Given the description of an element on the screen output the (x, y) to click on. 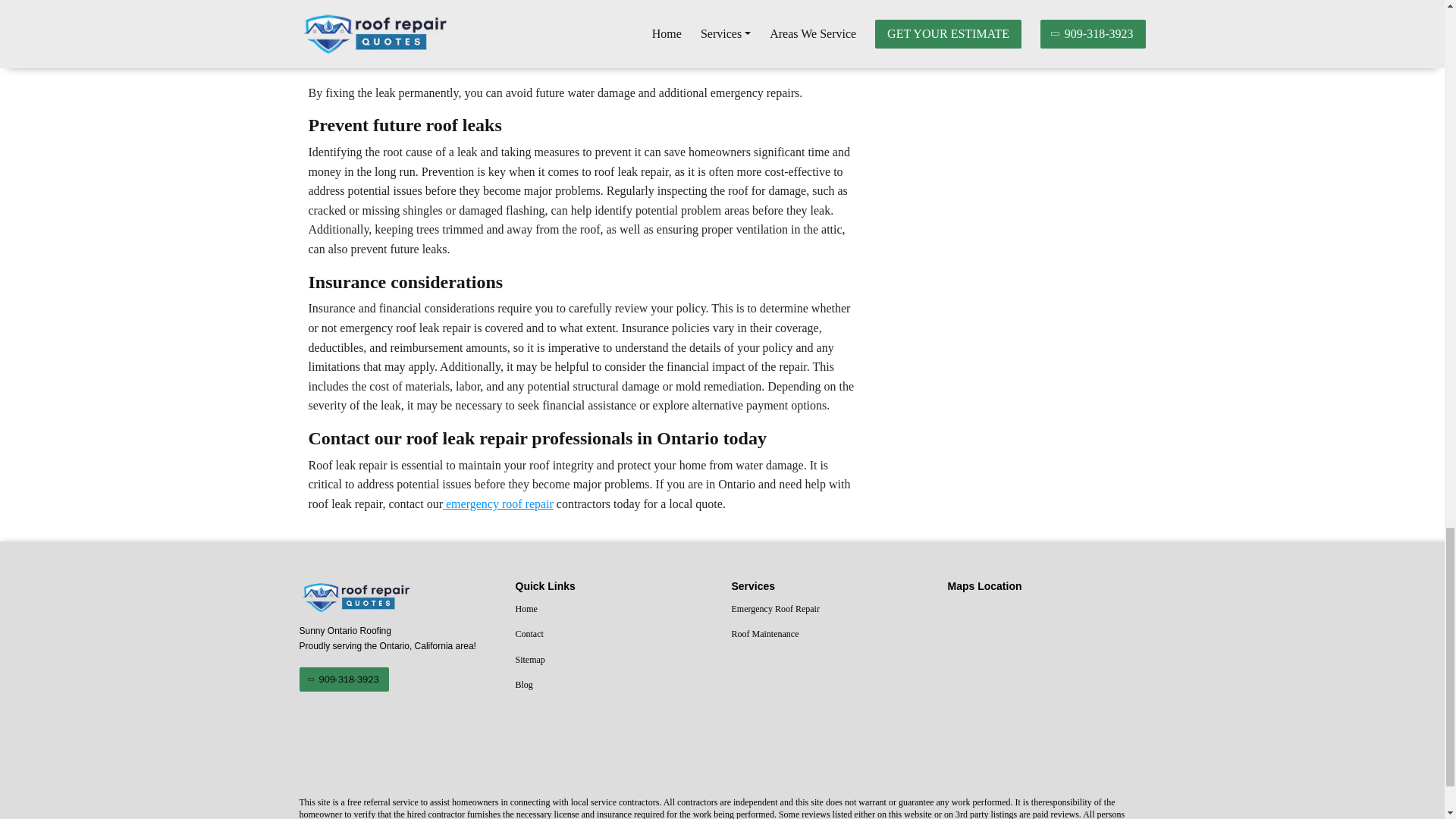
Sitemap (614, 660)
Home (614, 609)
Emergency Roof Repair (829, 609)
Blog (614, 685)
Roof Maintenance (829, 634)
emergency roof repair (497, 503)
Contact (614, 634)
909-318-3923 (343, 679)
